Given the description of an element on the screen output the (x, y) to click on. 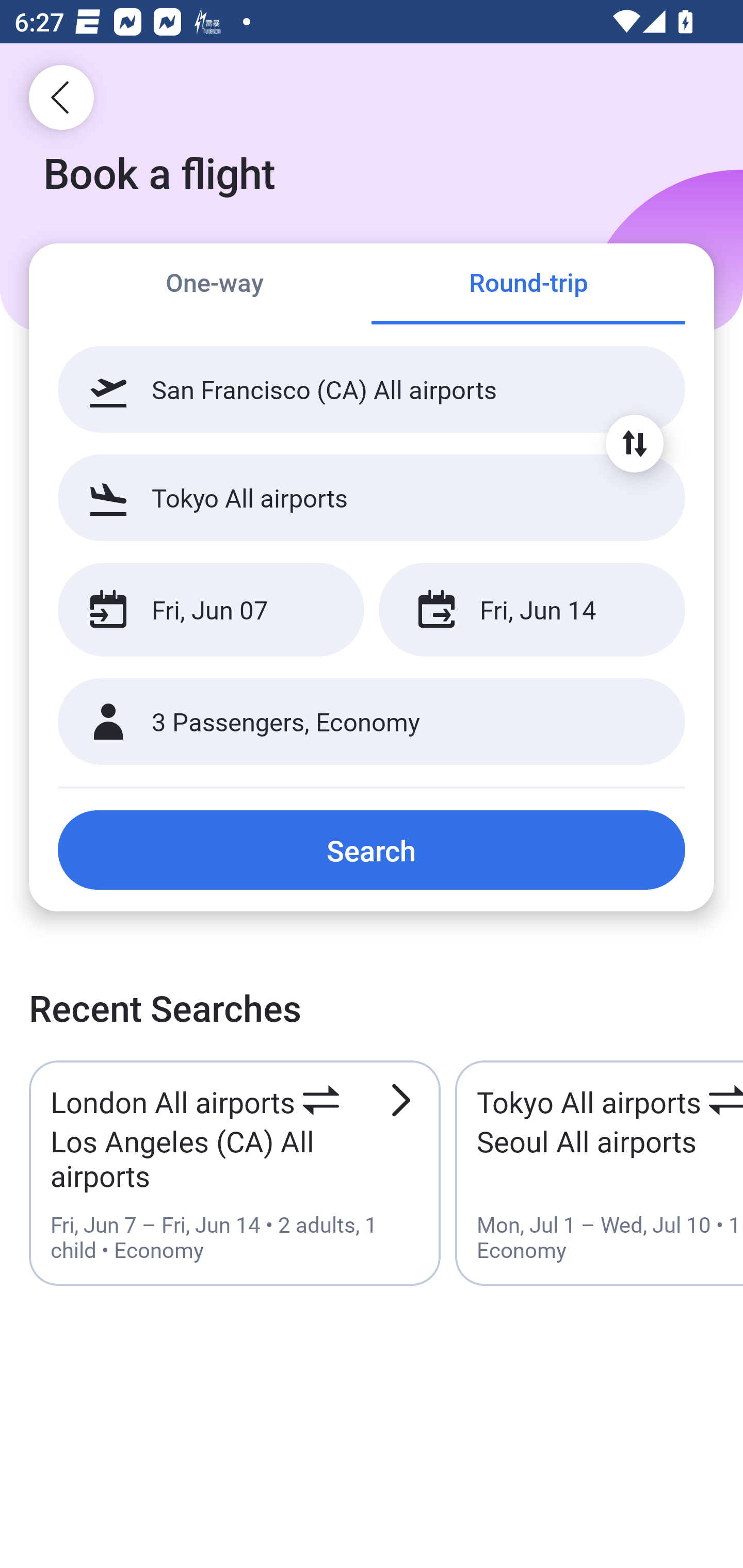
One-way (214, 284)
San Francisco (CA) All airports (371, 389)
Tokyo All airports (371, 497)
Fri, Jun 07 (210, 609)
Fri, Jun 14 (531, 609)
3 Passengers, Economy (371, 721)
Search (371, 849)
